Given the description of an element on the screen output the (x, y) to click on. 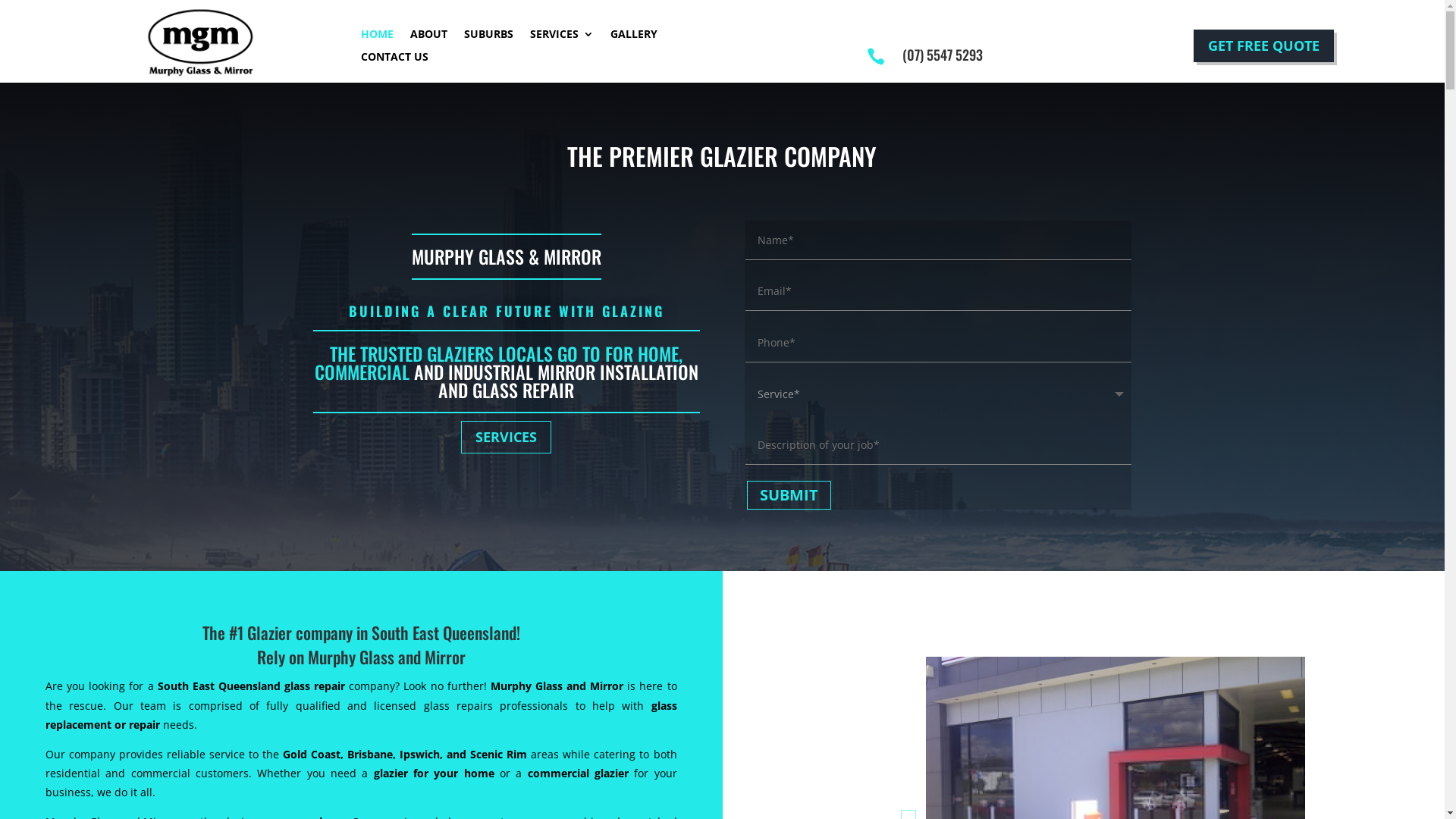
SERVICES Element type: text (506, 436)
CONTACT US Element type: text (394, 59)
SUBMIT Element type: text (788, 495)
(07) 5547 5293 Element type: text (942, 54)
ABOUT Element type: text (428, 36)
HOME Element type: text (376, 36)
SERVICES Element type: text (561, 36)
GALLERY Element type: text (633, 36)
SUBURBS Element type: text (488, 36)
GET FREE QUOTE Element type: text (1263, 45)
